Given the description of an element on the screen output the (x, y) to click on. 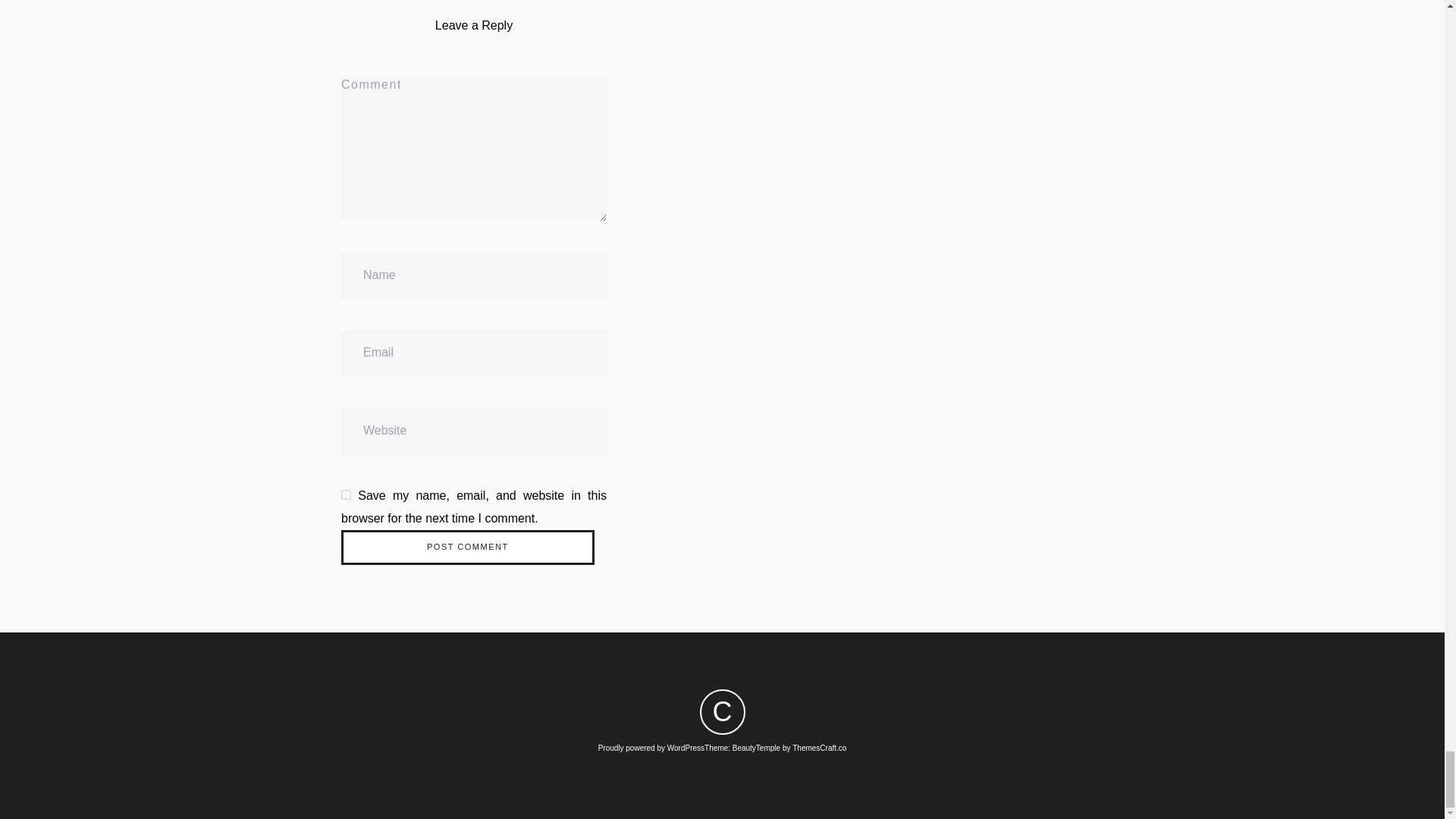
yes (345, 494)
Post Comment (467, 547)
